Given the description of an element on the screen output the (x, y) to click on. 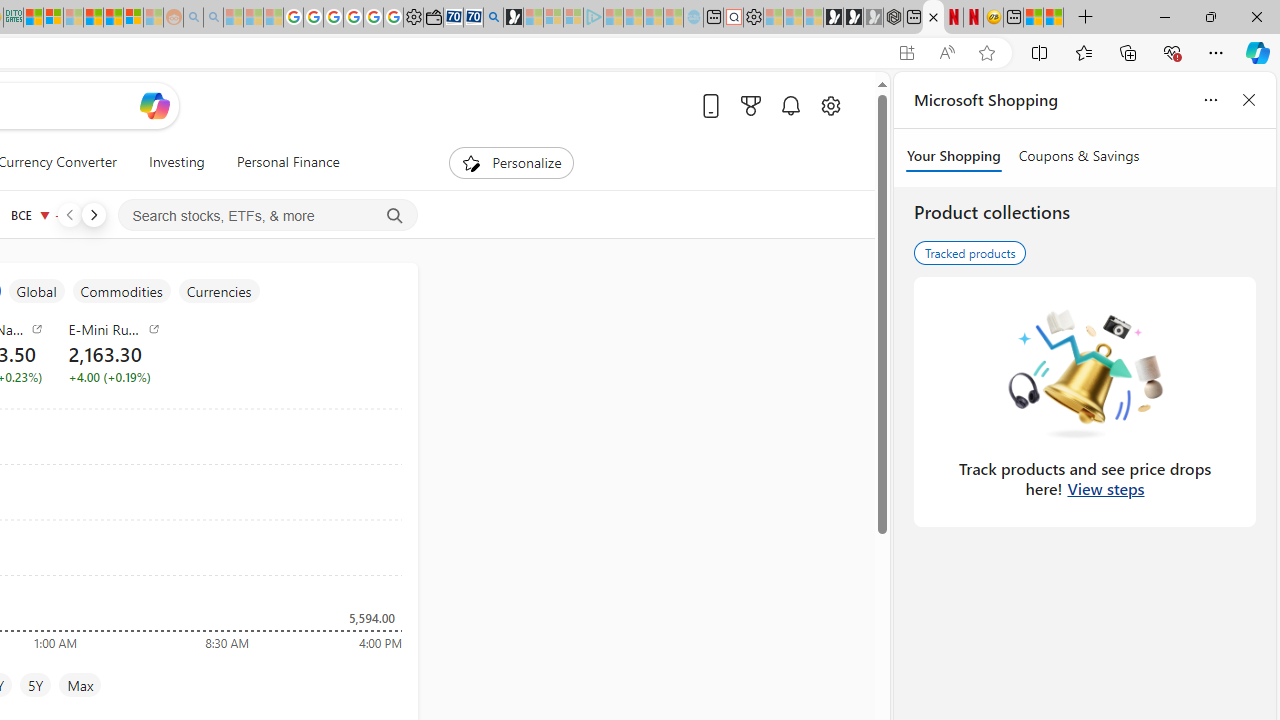
5Y (35, 684)
Wildlife - MSN (1033, 17)
Max (80, 684)
